Given the description of an element on the screen output the (x, y) to click on. 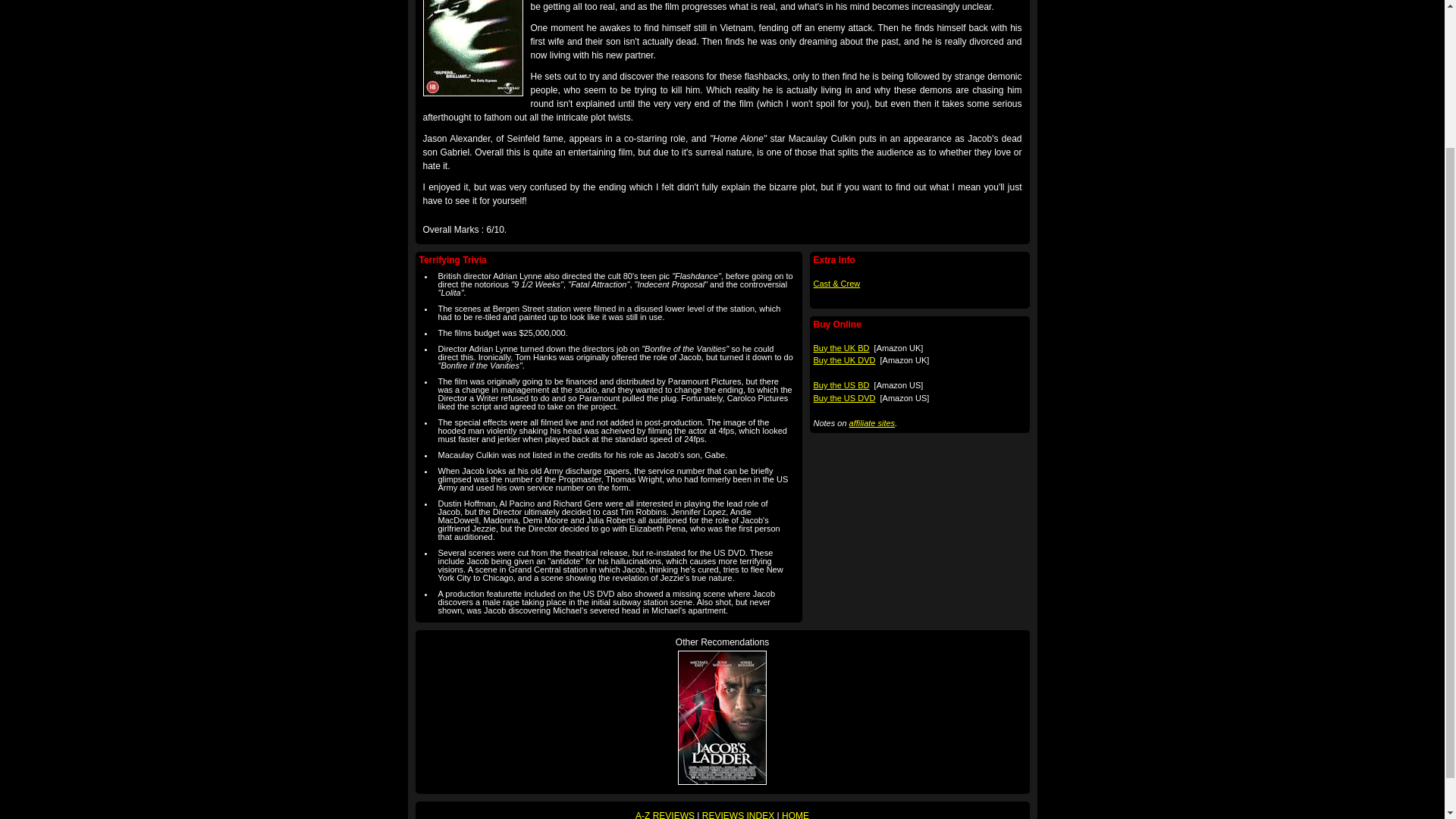
Buy the US BD (840, 384)
affiliate sites (871, 421)
Buy the US DVD (843, 397)
Buy the UK DVD (843, 359)
Buy the UK BD (840, 347)
